Given the description of an element on the screen output the (x, y) to click on. 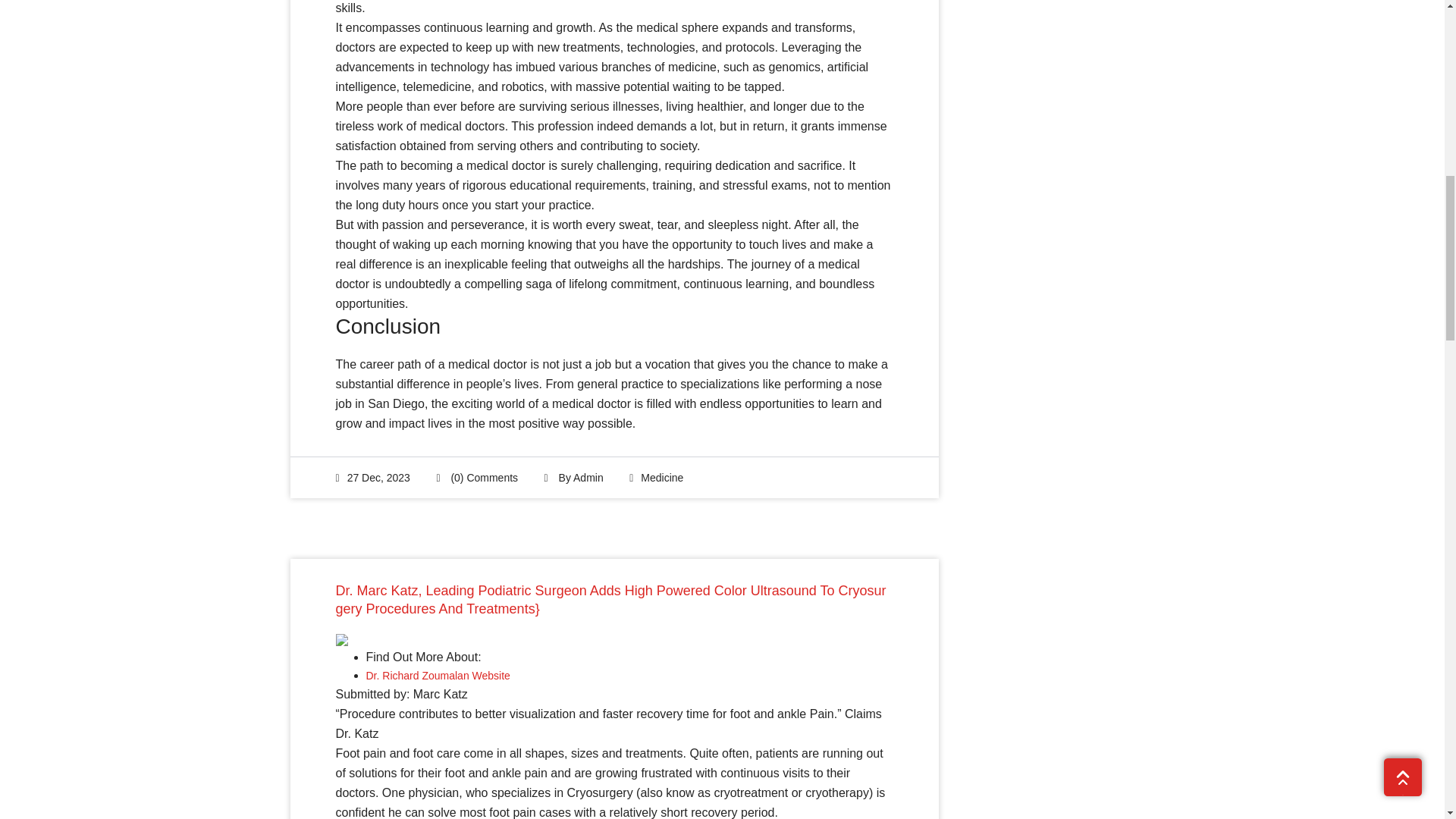
27 Dec, 2023 (371, 477)
Admin (588, 477)
Dr. Richard Zoumalan Website (437, 675)
Medicine (661, 477)
